Given the description of an element on the screen output the (x, y) to click on. 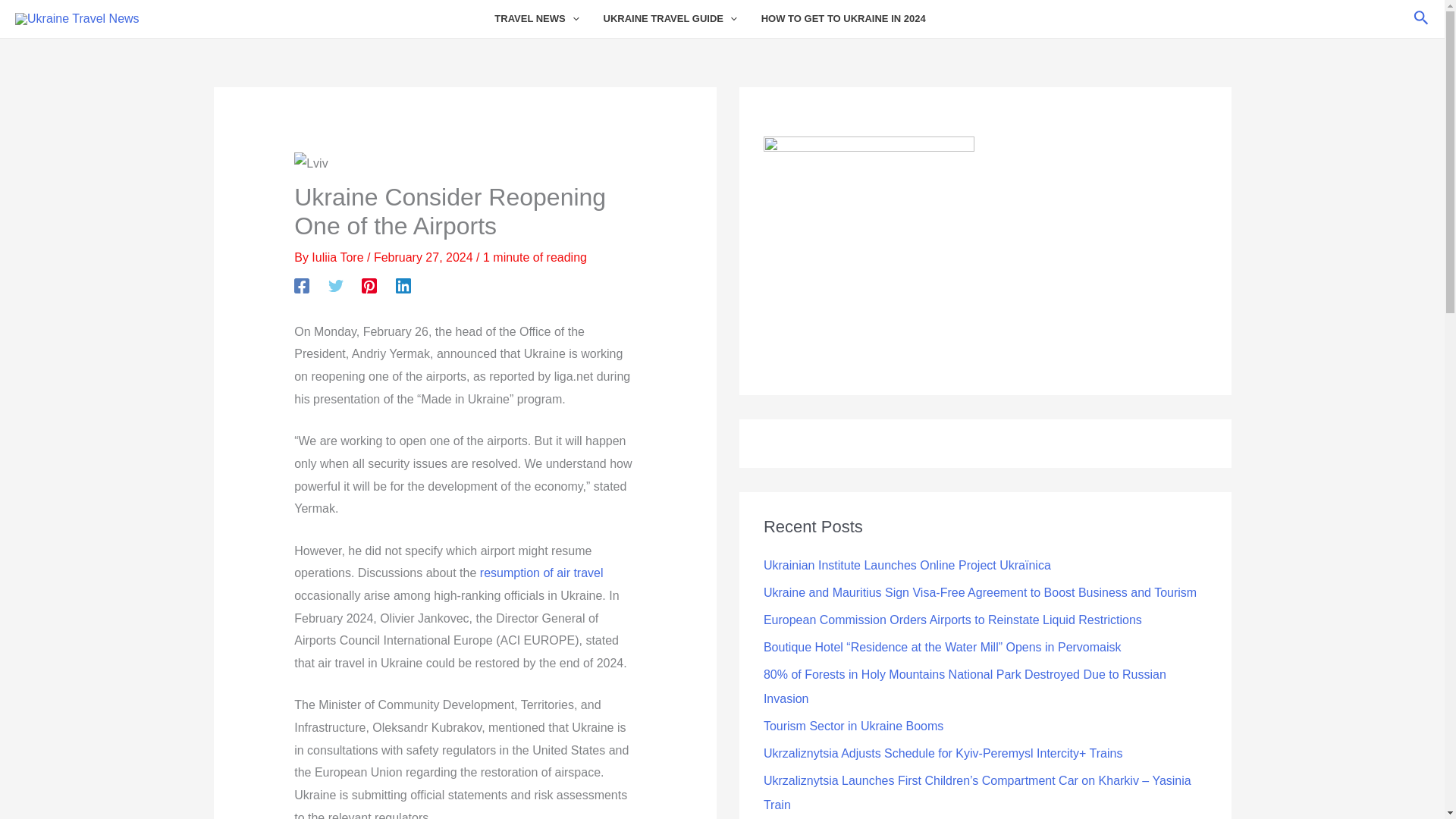
UKRAINE TRAVEL GUIDE (682, 18)
View all posts by Iuliia Tore (338, 256)
resumption of air travel (542, 572)
TRAVEL NEWS (548, 18)
HOW TO GET TO UKRAINE IN 2024 (855, 18)
Iuliia Tore (338, 256)
